Given the description of an element on the screen output the (x, y) to click on. 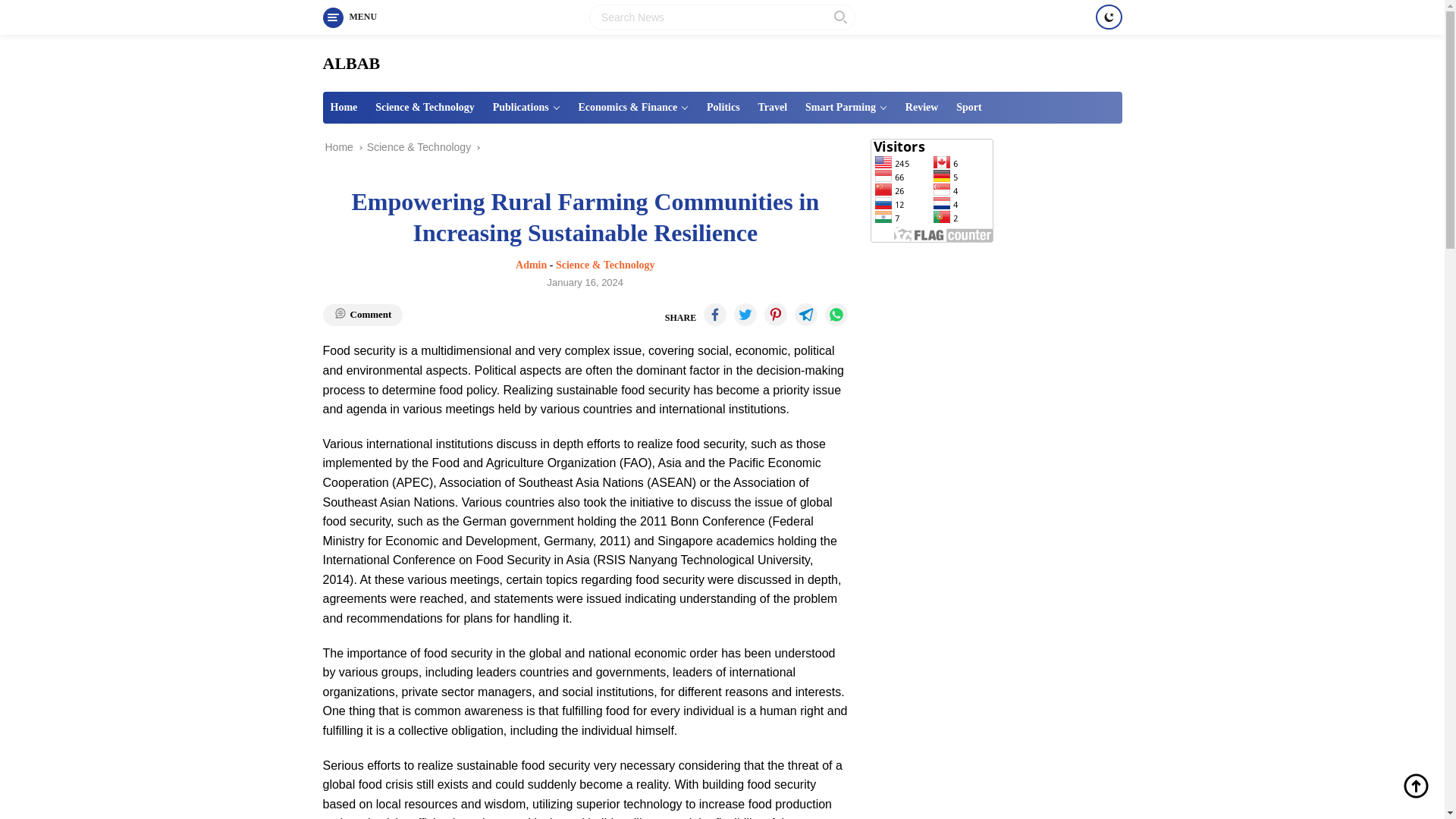
Tweet This (775, 314)
Sport (968, 107)
Travel (772, 107)
ALBAB (351, 63)
MENU (350, 17)
Smart Parming (846, 107)
Dark Mode (1107, 16)
Send To WhatsApp (836, 314)
Facebook Share (714, 314)
ALBAB (351, 63)
Home (344, 107)
Review (922, 107)
Politics (723, 107)
Tweet This (745, 314)
Admin (531, 265)
